Given the description of an element on the screen output the (x, y) to click on. 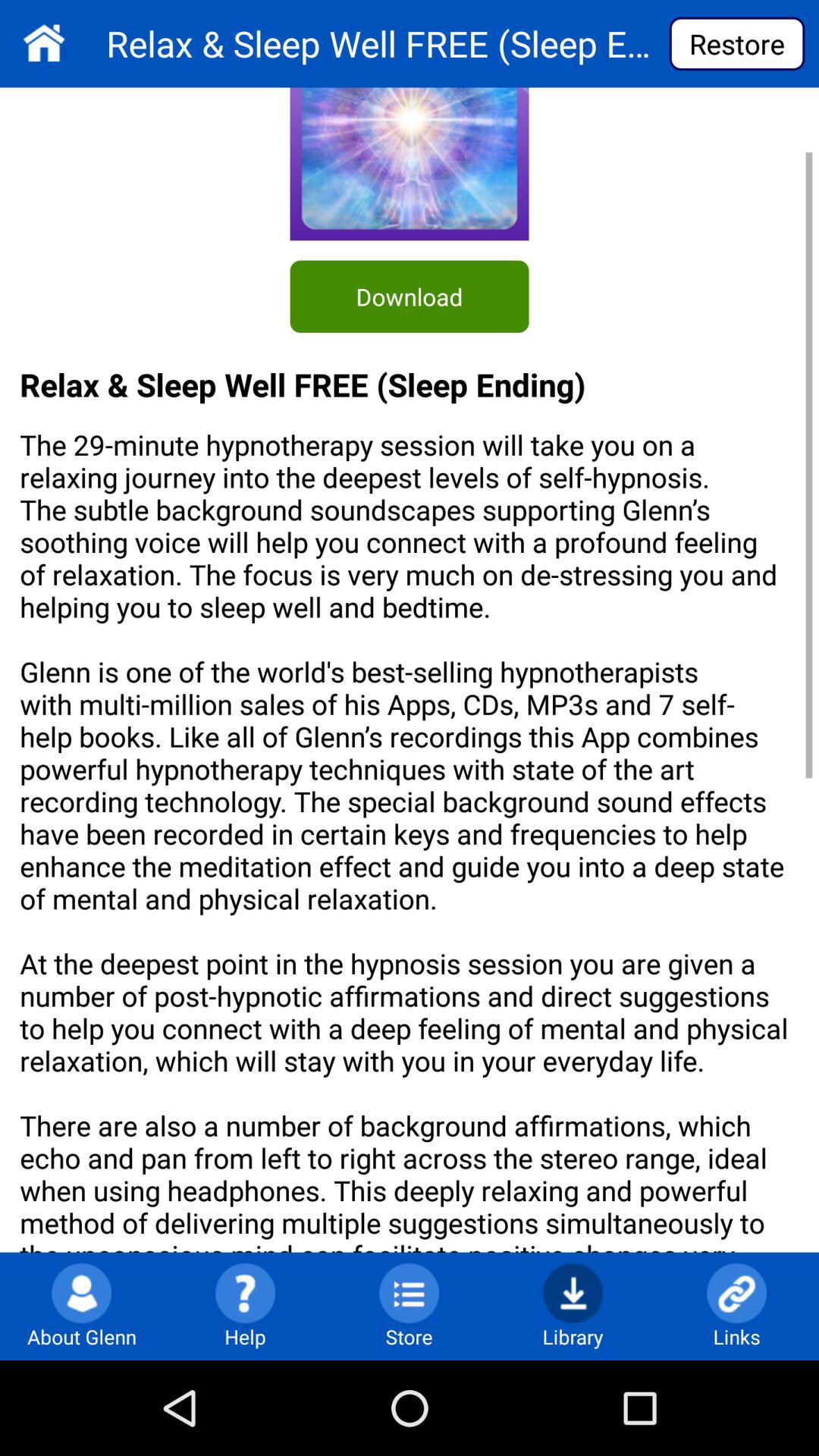
select restore button which is on the top right corner of page (736, 43)
